Given the description of an element on the screen output the (x, y) to click on. 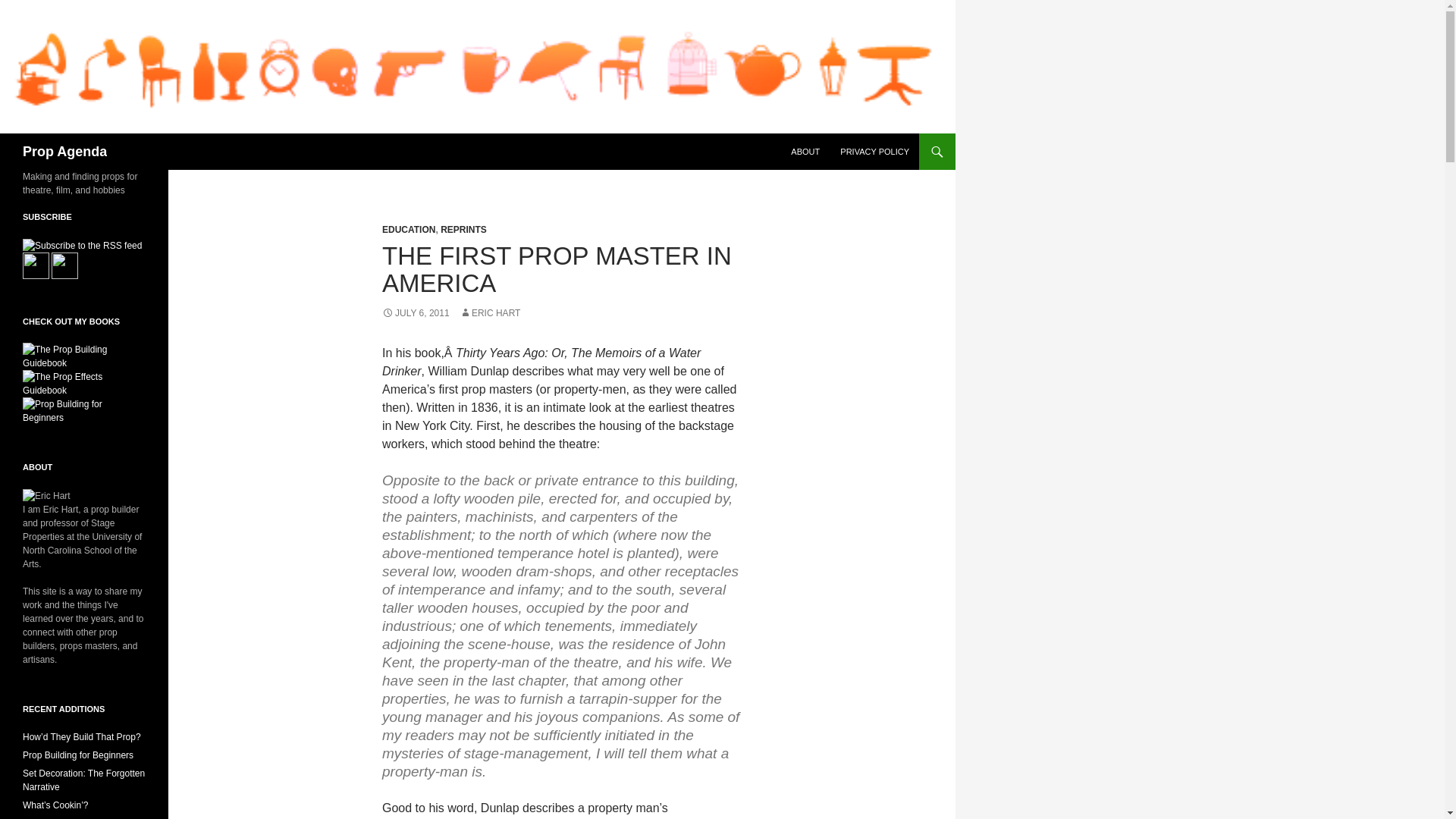
JULY 6, 2011 (415, 312)
ABOUT (804, 151)
ERIC HART (489, 312)
REPRINTS (463, 229)
Set Decoration: The Forgotten Narrative (83, 780)
Prop Agenda (64, 151)
EDUCATION (408, 229)
Prop Building for Beginners (78, 755)
